Given the description of an element on the screen output the (x, y) to click on. 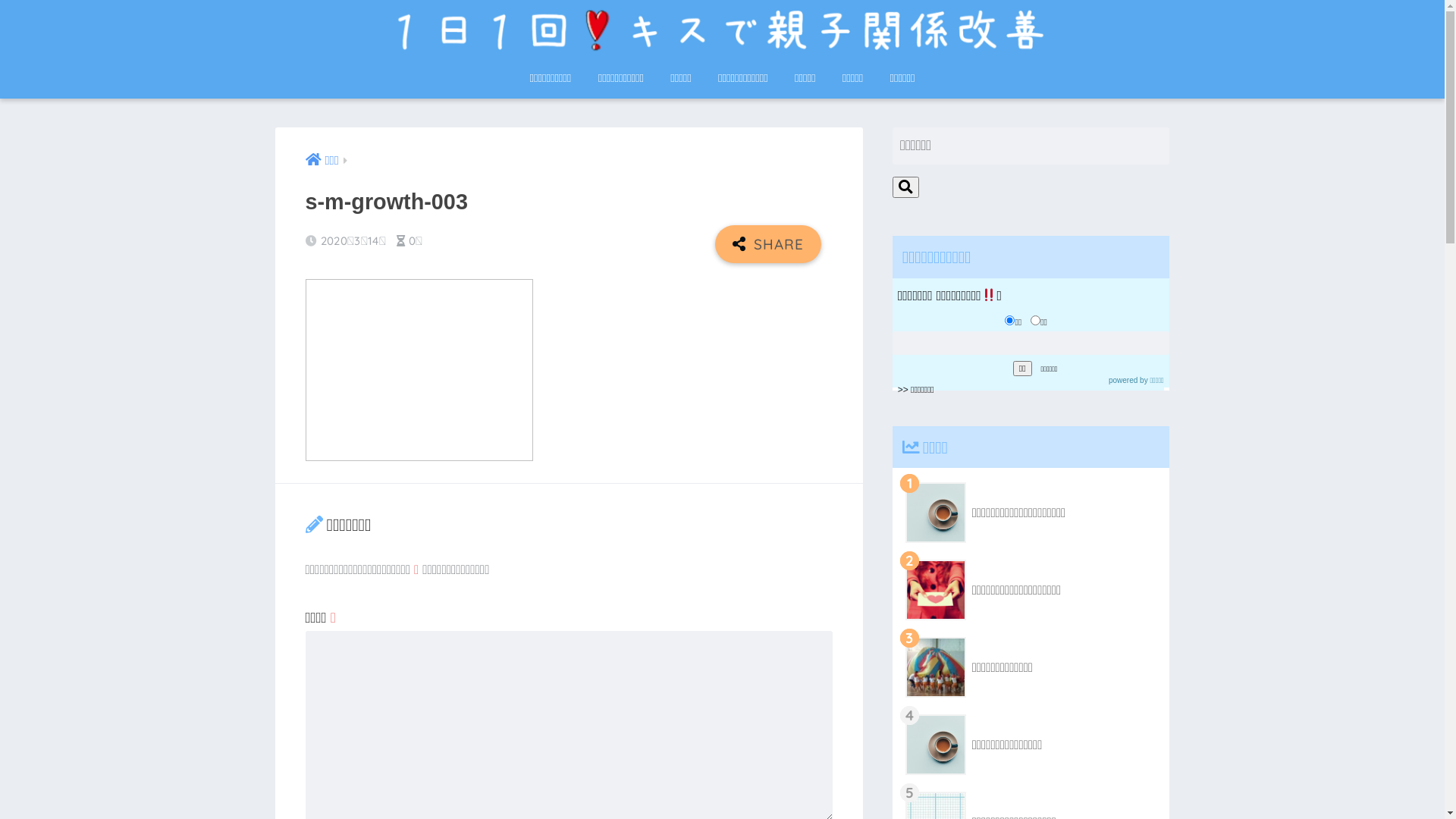
on Element type: text (4, 4)
